Given the description of an element on the screen output the (x, y) to click on. 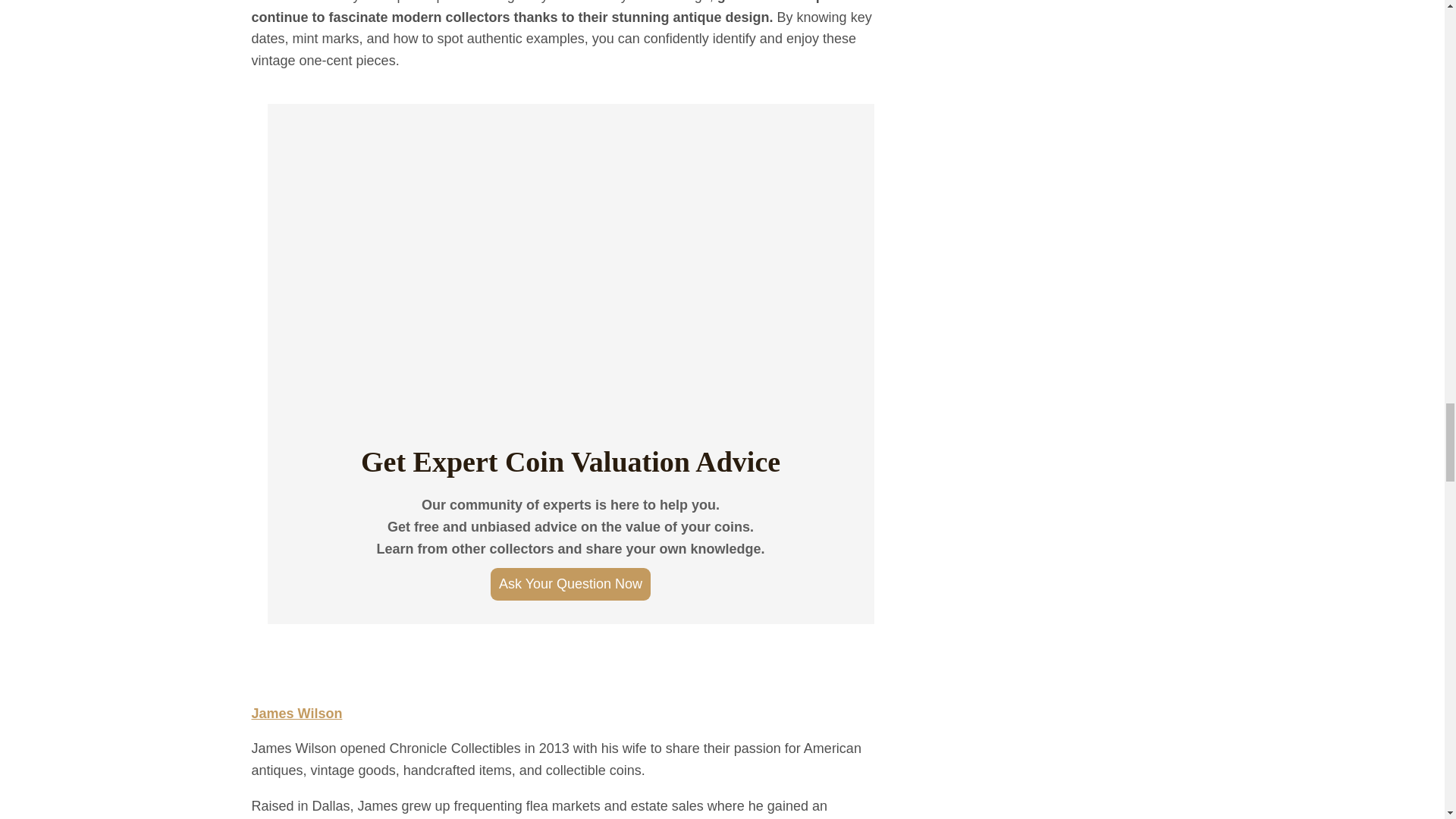
Posts by James Wilson (296, 713)
James Wilson (296, 713)
